Given the description of an element on the screen output the (x, y) to click on. 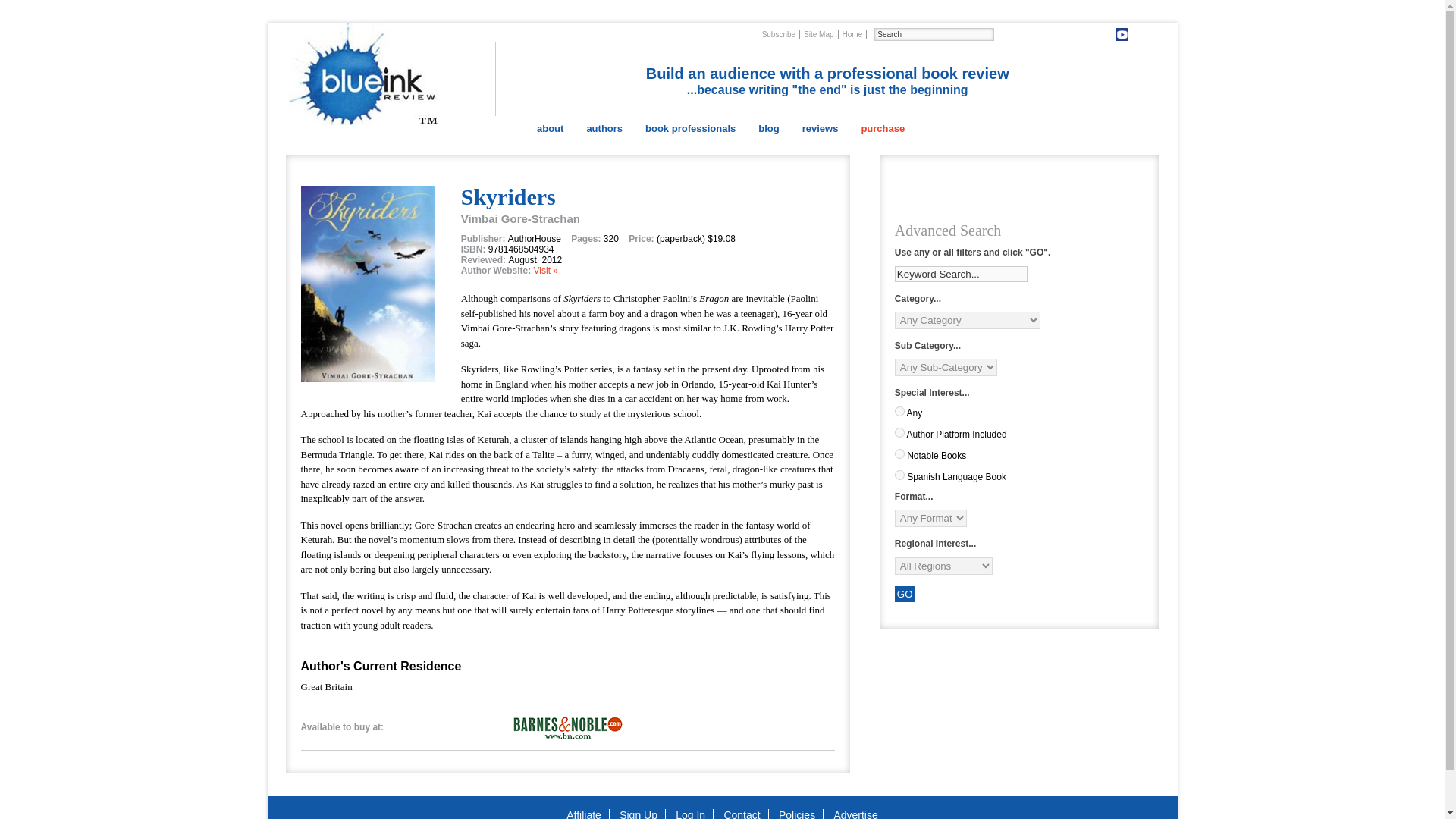
about (550, 128)
Google Plus (1106, 33)
author-platform-included (899, 432)
Site Map (818, 34)
Pinterest (1045, 33)
notable-books (899, 453)
Twitter (1060, 33)
Facebook (1076, 33)
Home (852, 34)
Instagram (1136, 33)
Subscribe (778, 34)
spanish-language-book (899, 474)
GO (905, 593)
